Given the description of an element on the screen output the (x, y) to click on. 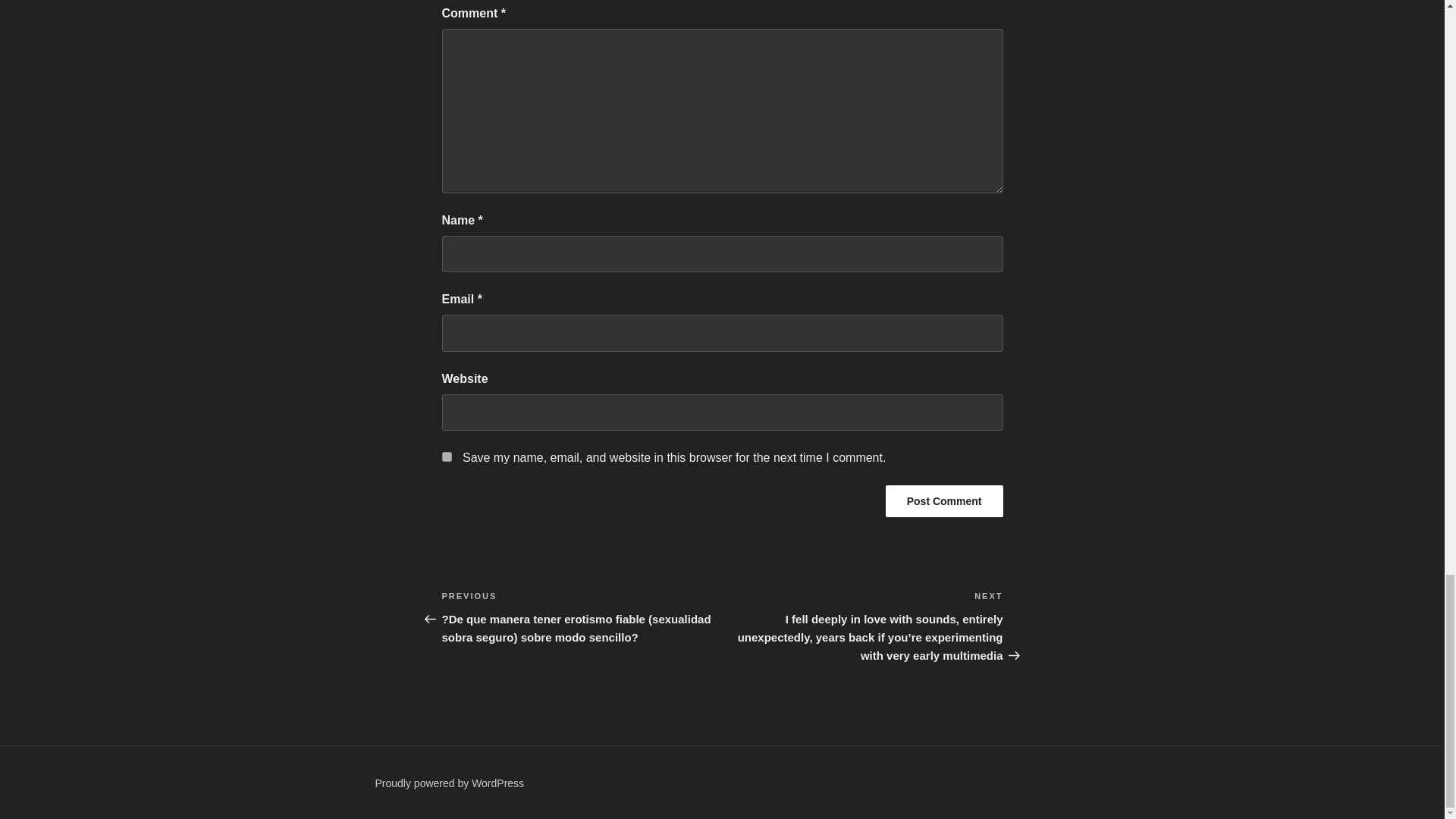
Proudly powered by WordPress (449, 783)
Post Comment (944, 500)
yes (446, 456)
Post Comment (944, 500)
